Given the description of an element on the screen output the (x, y) to click on. 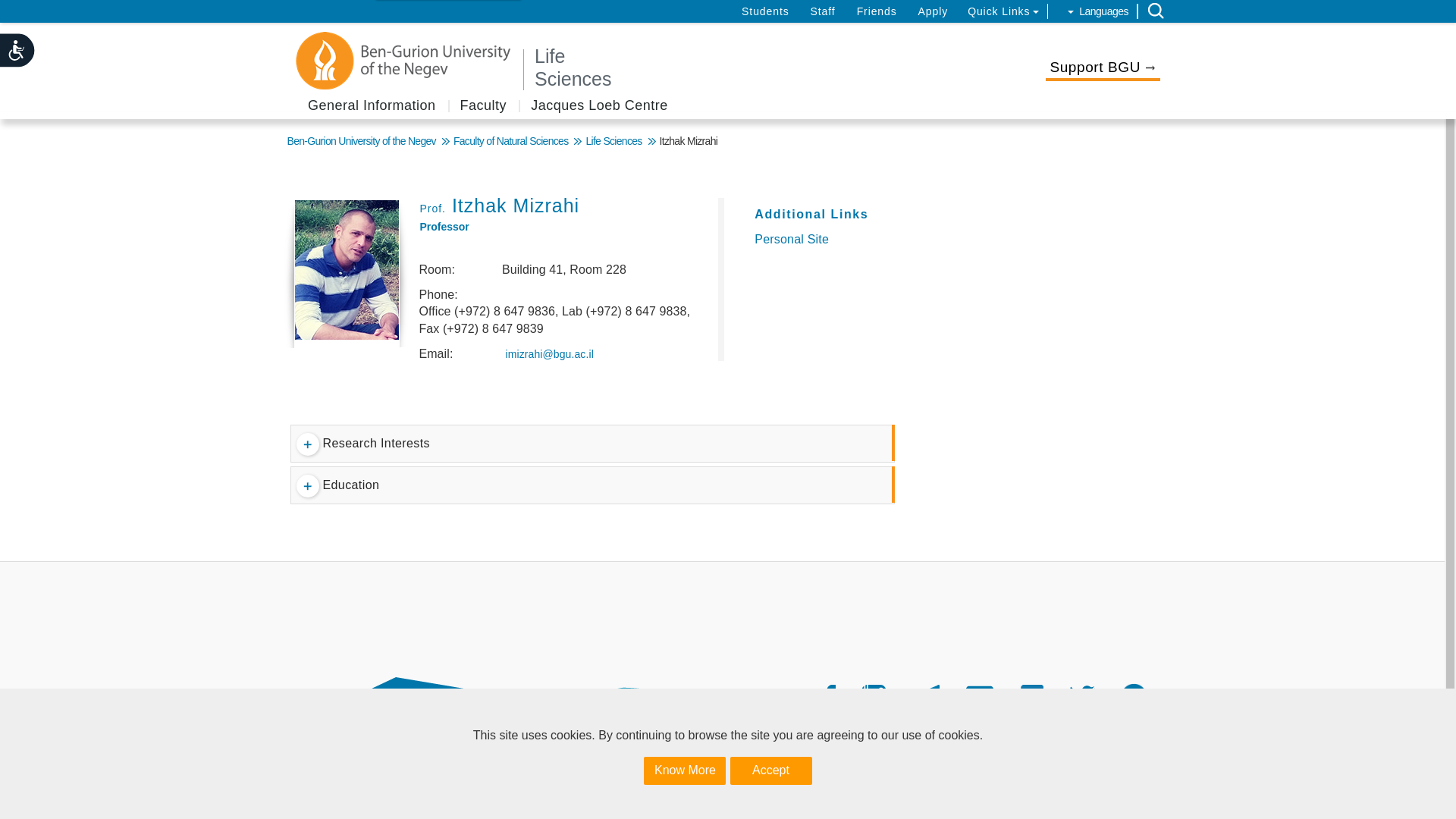
Ben-Gurion University Skip to Home Page (478, 783)
Students (765, 11)
BGU Home Page (404, 60)
Search in site (1155, 10)
Friends (876, 11)
Staff (822, 11)
Sign In (23, 11)
Apply (933, 11)
Skip to Home Page (750, 67)
Quick Links (1003, 11)
